Given the description of an element on the screen output the (x, y) to click on. 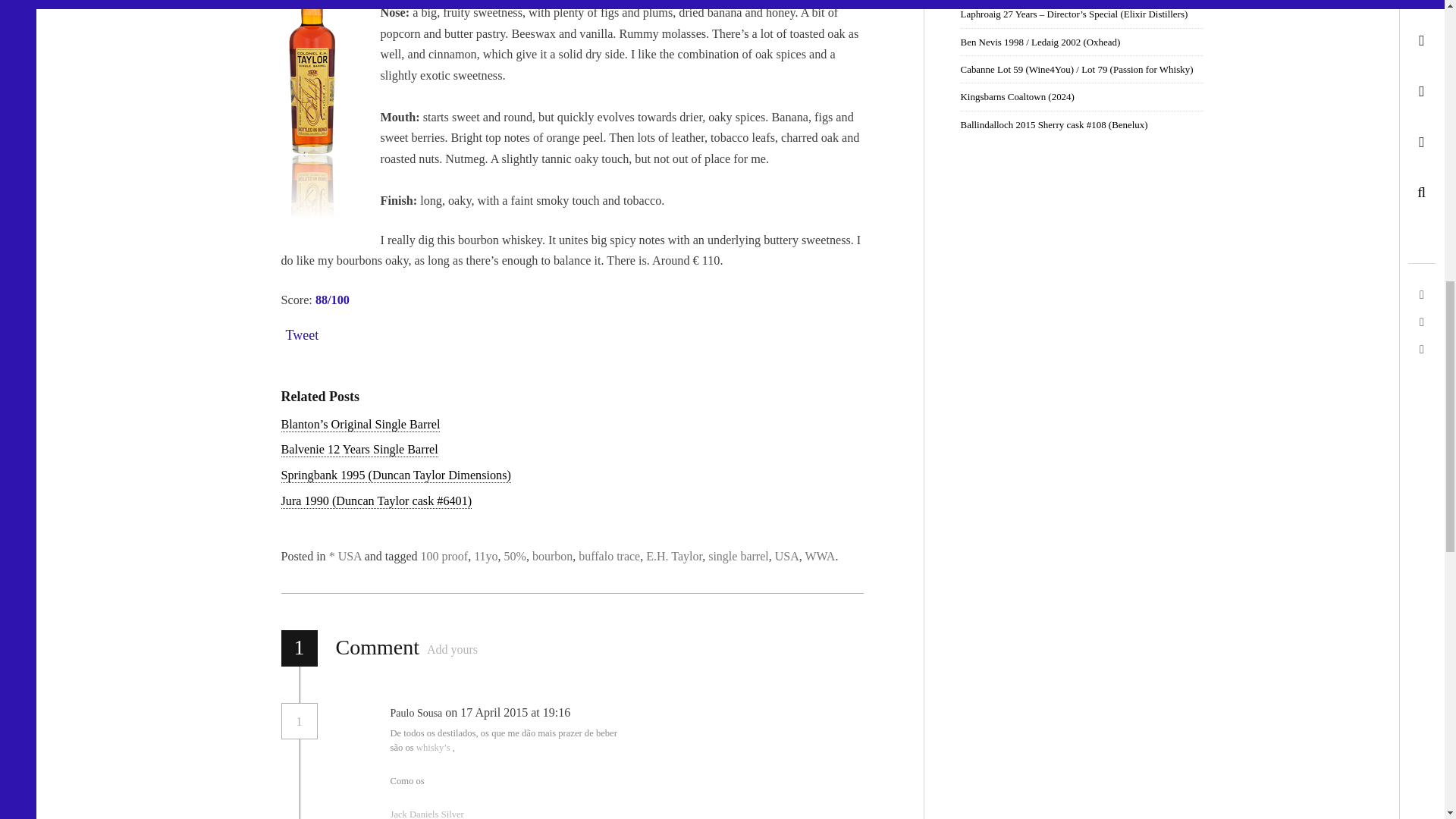
Tweet (301, 335)
Balvenie 12 Years Single Barrel (359, 450)
Balvenie 12 Years Single Barrel (359, 450)
100 proof (443, 555)
11yo (485, 555)
whisky's  (434, 747)
